Given the description of an element on the screen output the (x, y) to click on. 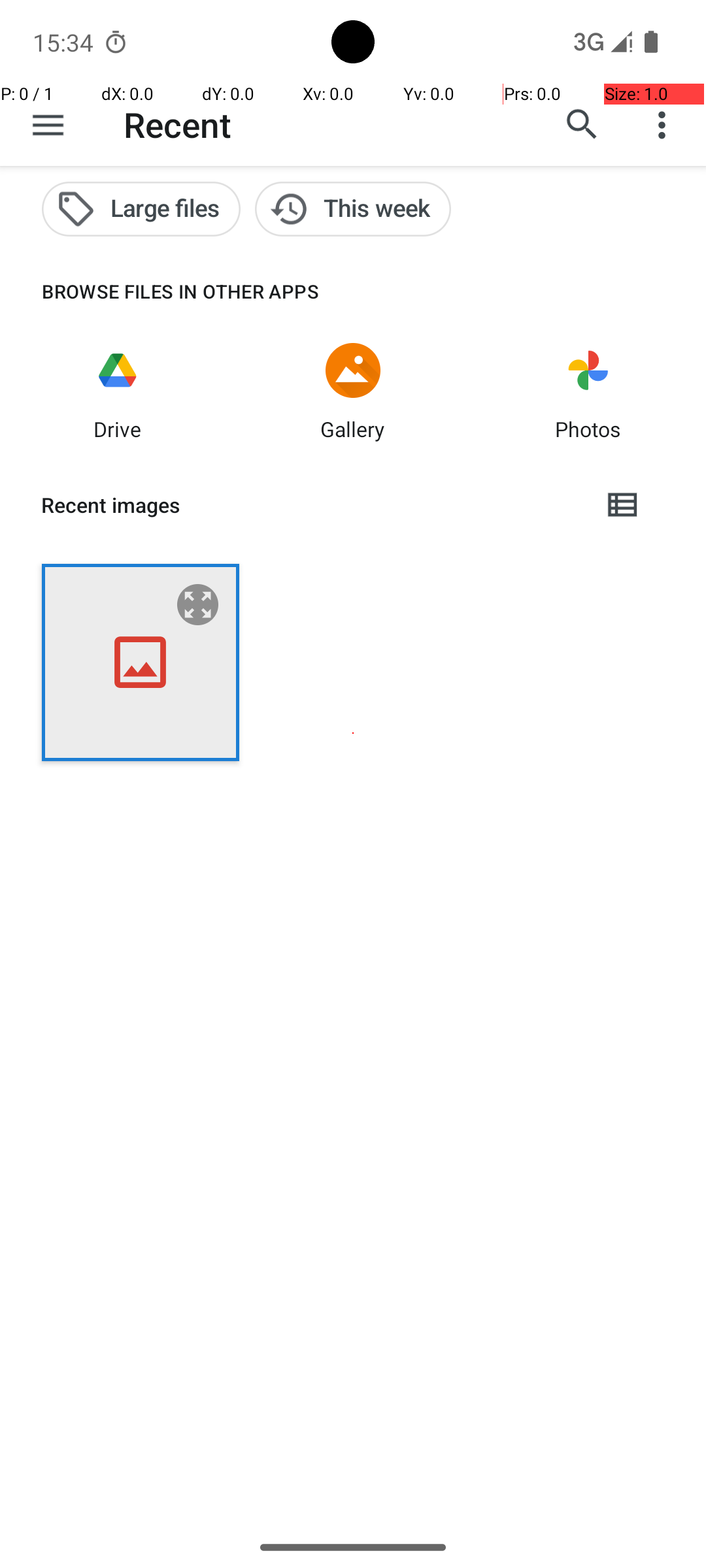
Recent images Element type: android.widget.TextView (311, 504)
IMG_20231015_153406.jpg, 144 kB, 15:34 Element type: android.widget.LinearLayout (140, 662)
Preview the file IMG_20231015_153406.jpg Element type: android.widget.FrameLayout (197, 604)
